Given the description of an element on the screen output the (x, y) to click on. 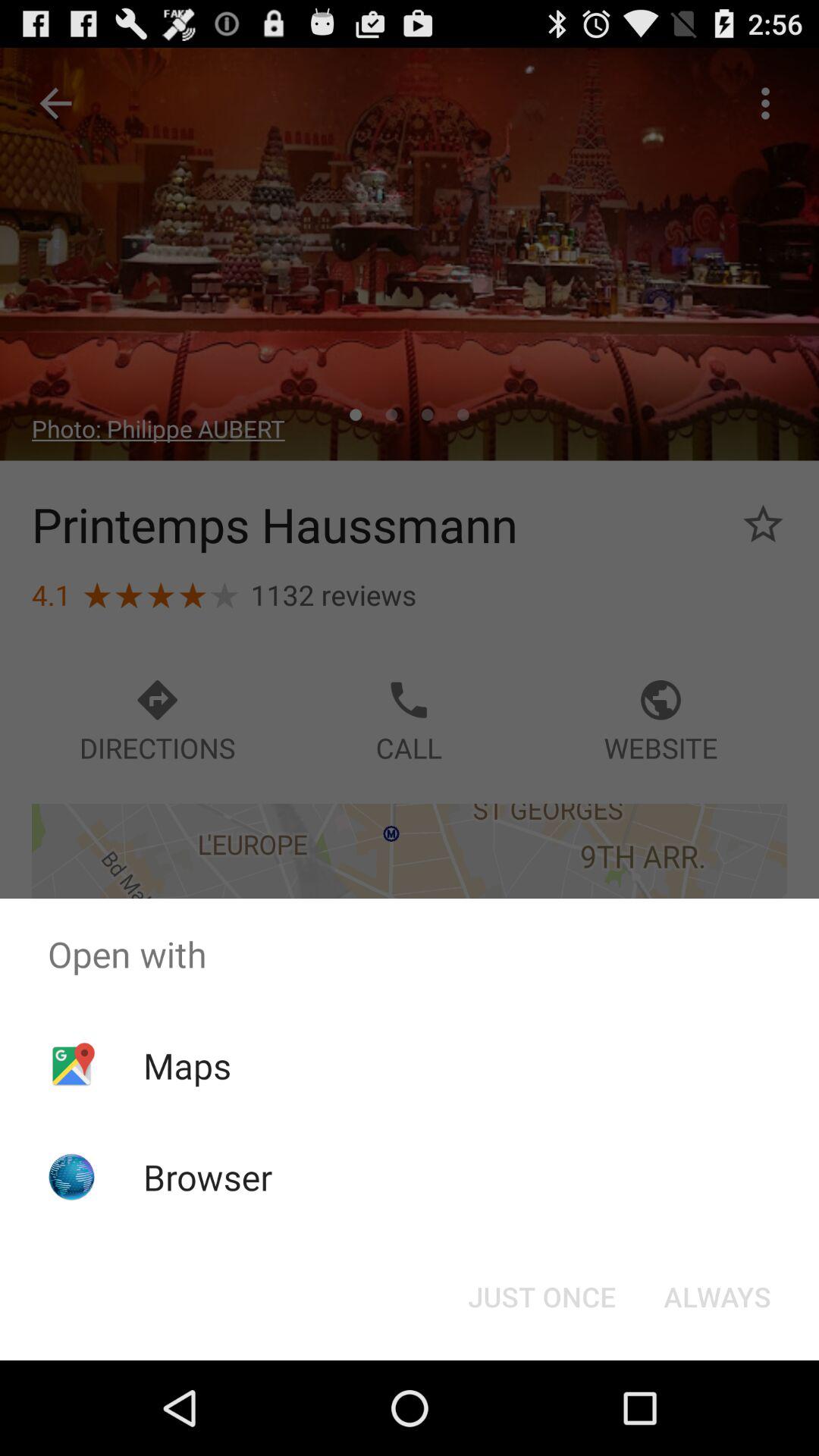
click button next to always (541, 1296)
